Given the description of an element on the screen output the (x, y) to click on. 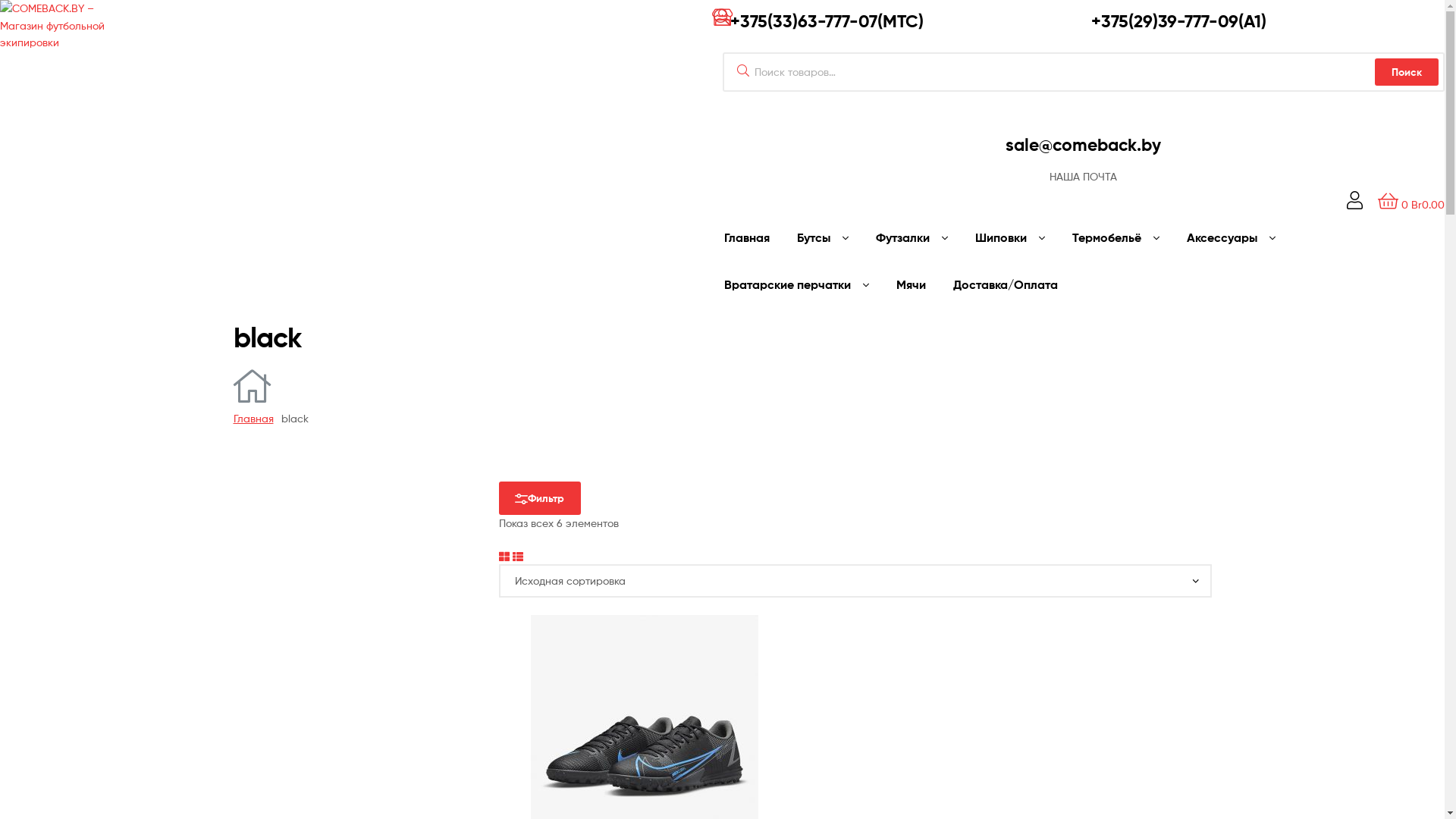
Grid View Element type: hover (503, 554)
List View Element type: hover (517, 554)
+375(29)39-777-09(A1) Element type: text (1178, 20)
0 Br0.00 Element type: text (1410, 203)
